Given the description of an element on the screen output the (x, y) to click on. 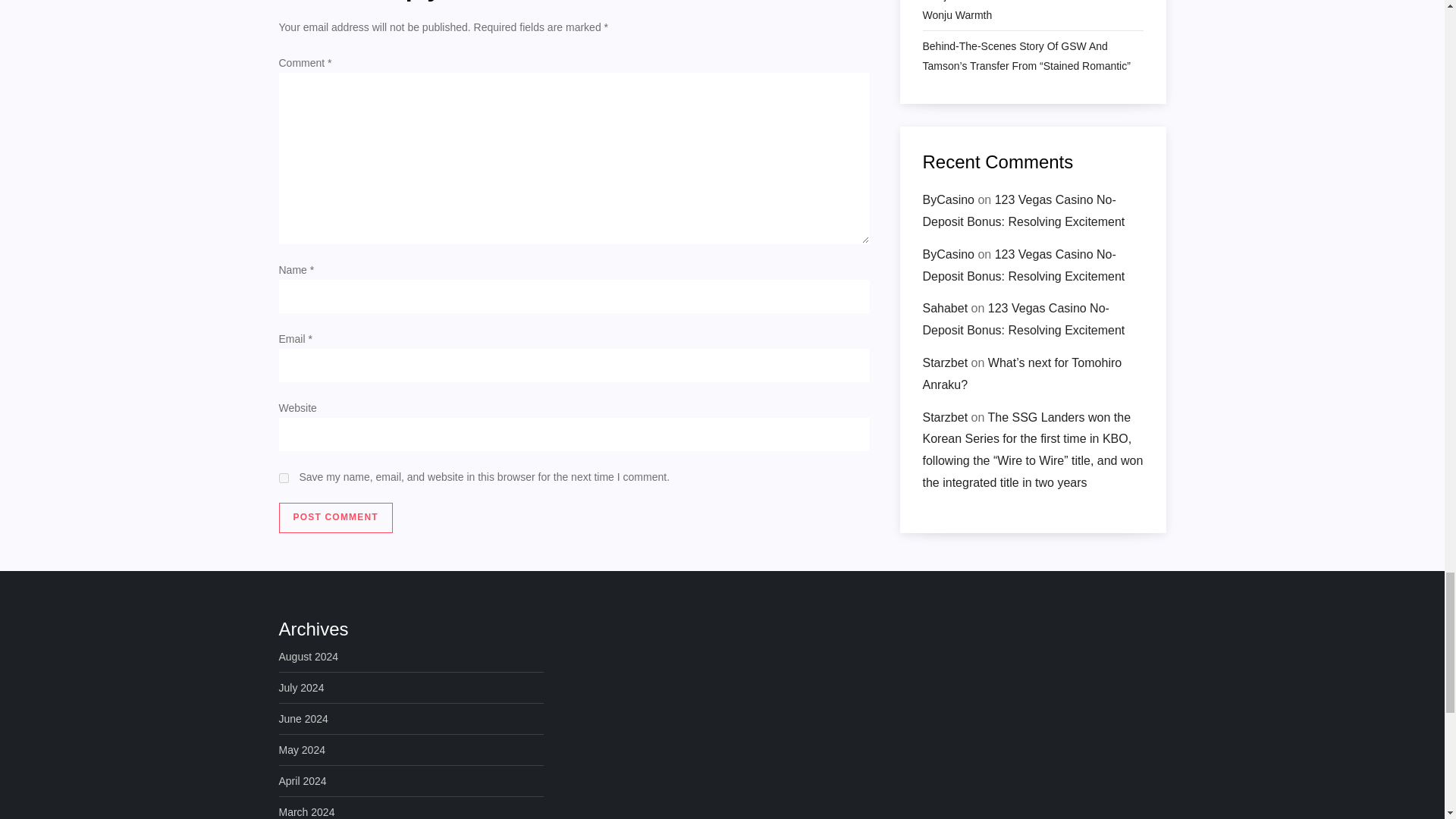
yes (283, 478)
Post Comment (336, 517)
